Given the description of an element on the screen output the (x, y) to click on. 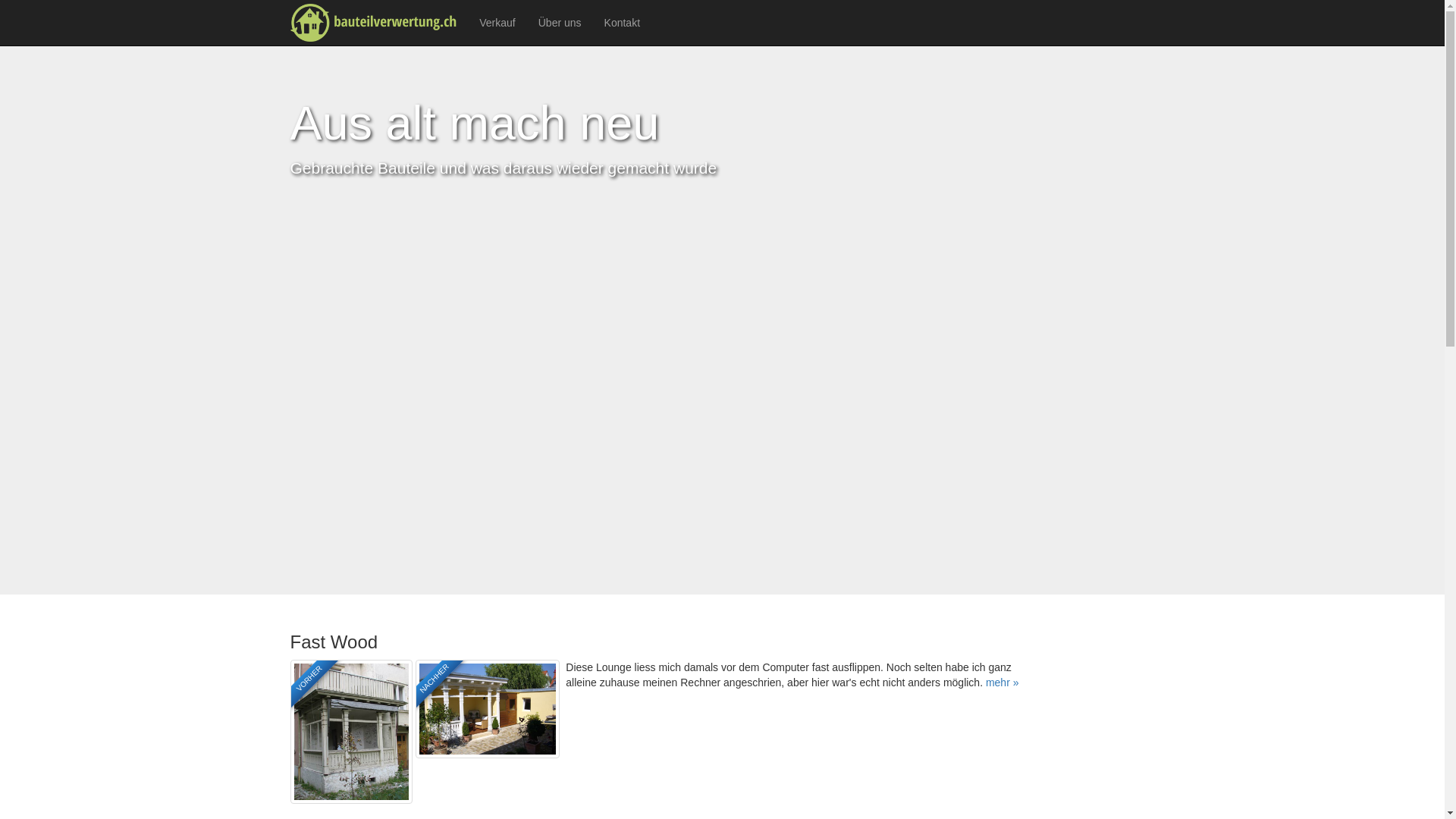
Kontakt Element type: text (622, 22)
Verkauf Element type: text (496, 22)
